Given the description of an element on the screen output the (x, y) to click on. 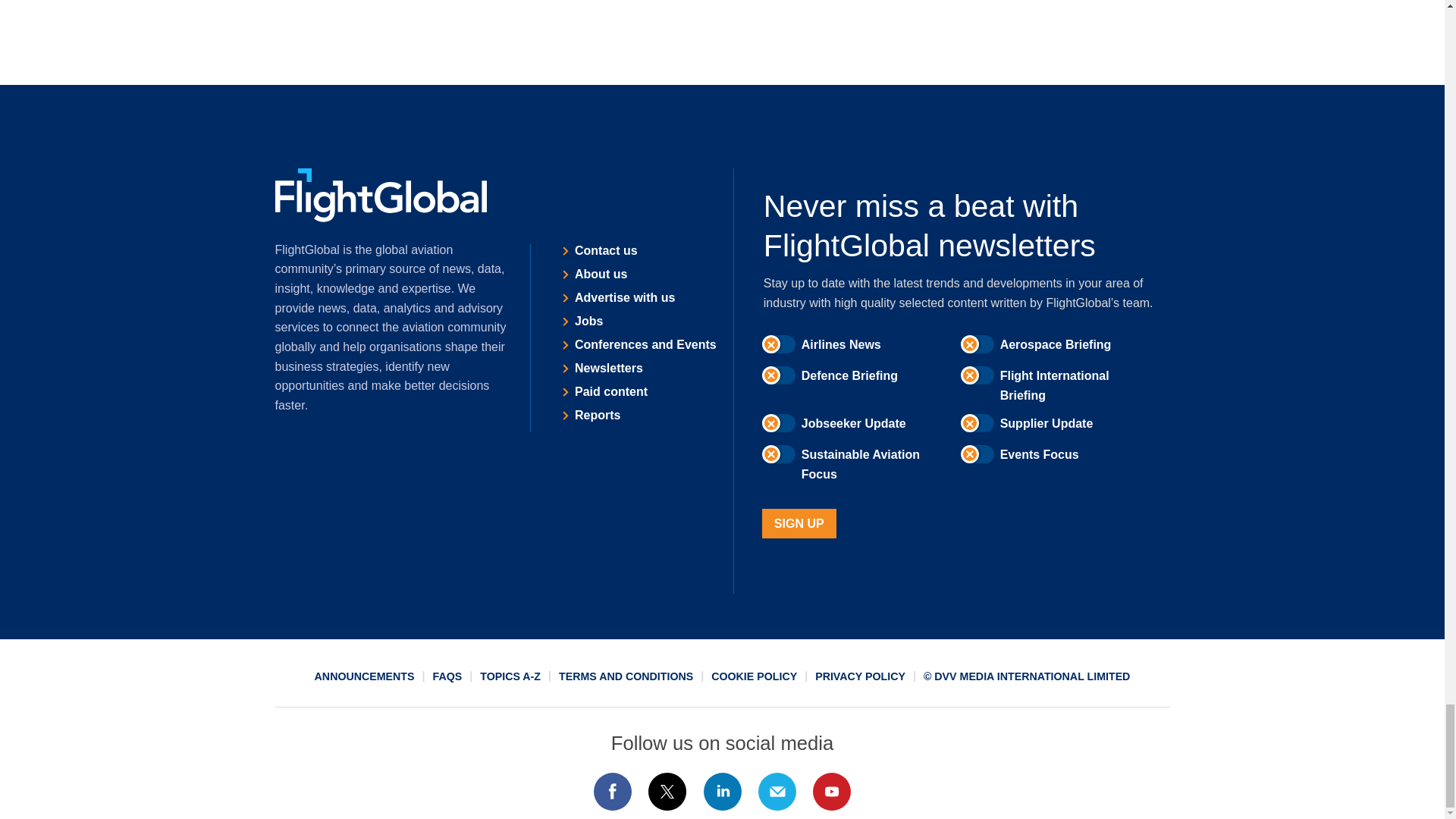
Connect with us on Linked In (721, 791)
Connect with us on Twitter (667, 791)
Connect with us on Facebook (611, 791)
Email us (776, 791)
